Given the description of an element on the screen output the (x, y) to click on. 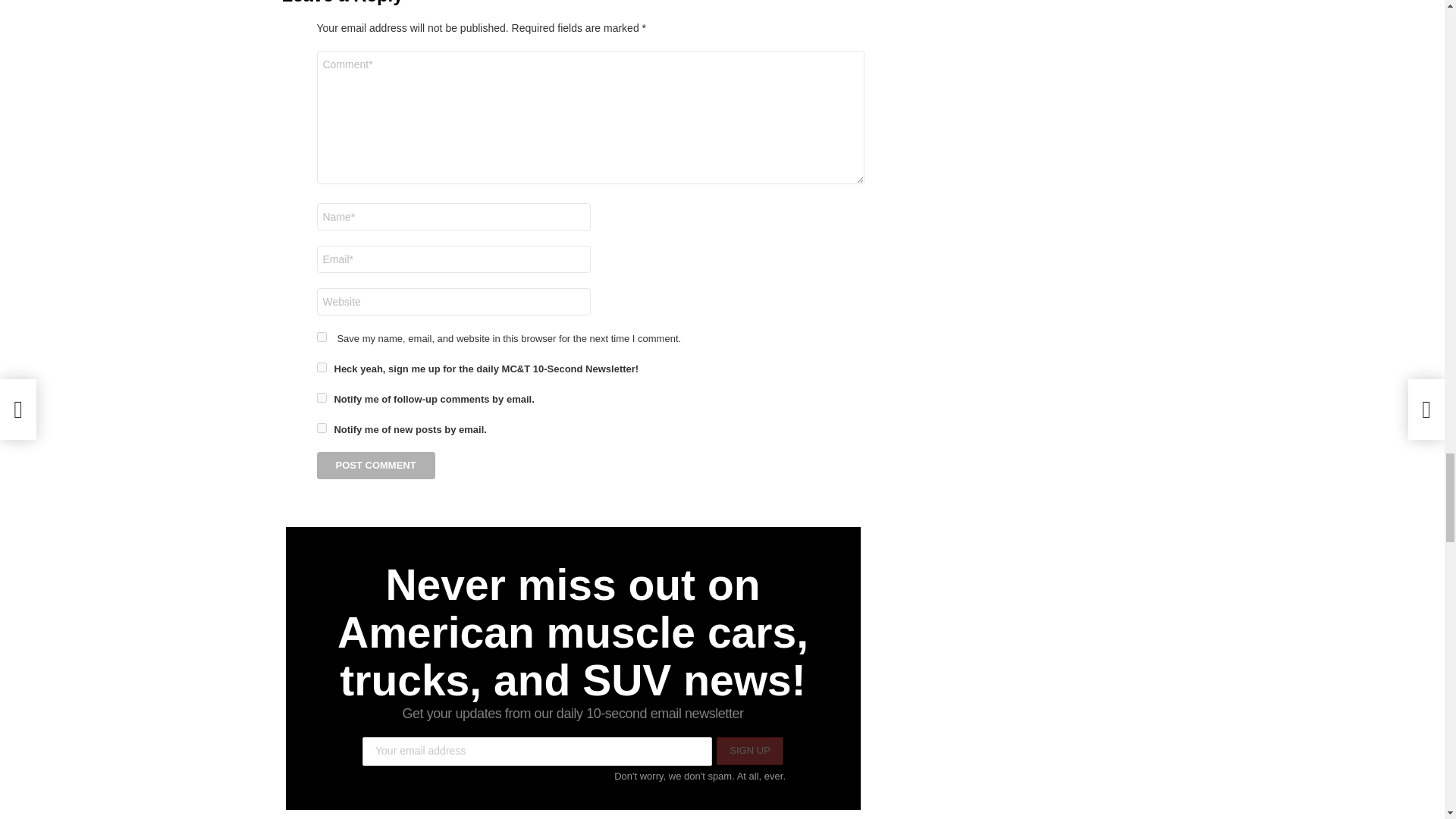
subscribe (321, 397)
yes (321, 337)
Post Comment (376, 465)
Sign up (749, 750)
subscribe (321, 428)
1 (321, 367)
